Given the description of an element on the screen output the (x, y) to click on. 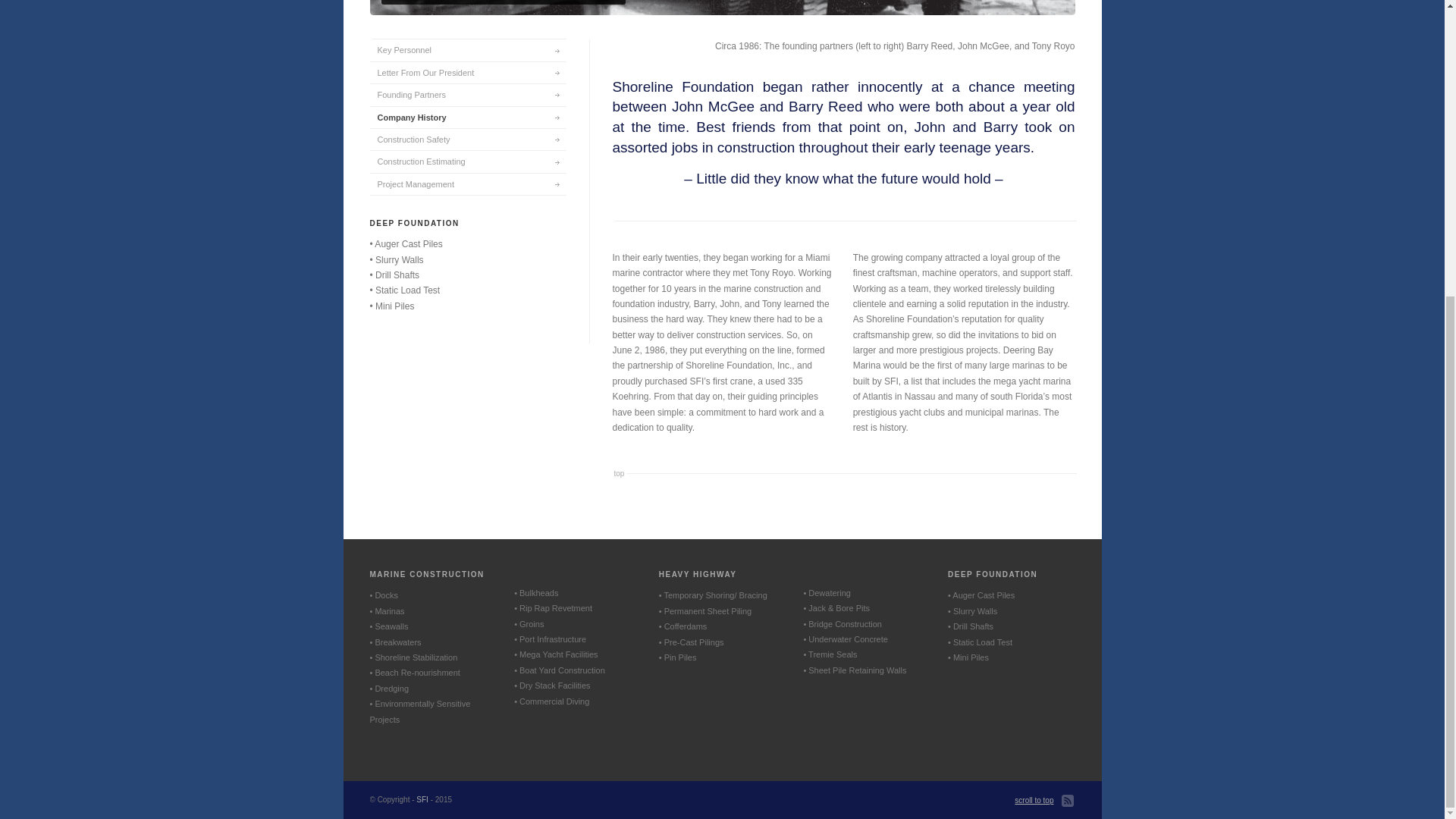
Company History (467, 116)
Construction Safety (467, 138)
Subscribe to our RSS Feed (1067, 800)
top (620, 473)
Founding Partners (467, 94)
Letter From Our President (467, 72)
scroll to top (1033, 800)
SFI (422, 799)
history (722, 7)
Construction Estimating (467, 160)
Project Management (467, 183)
Key Personnel (467, 49)
